Given the description of an element on the screen output the (x, y) to click on. 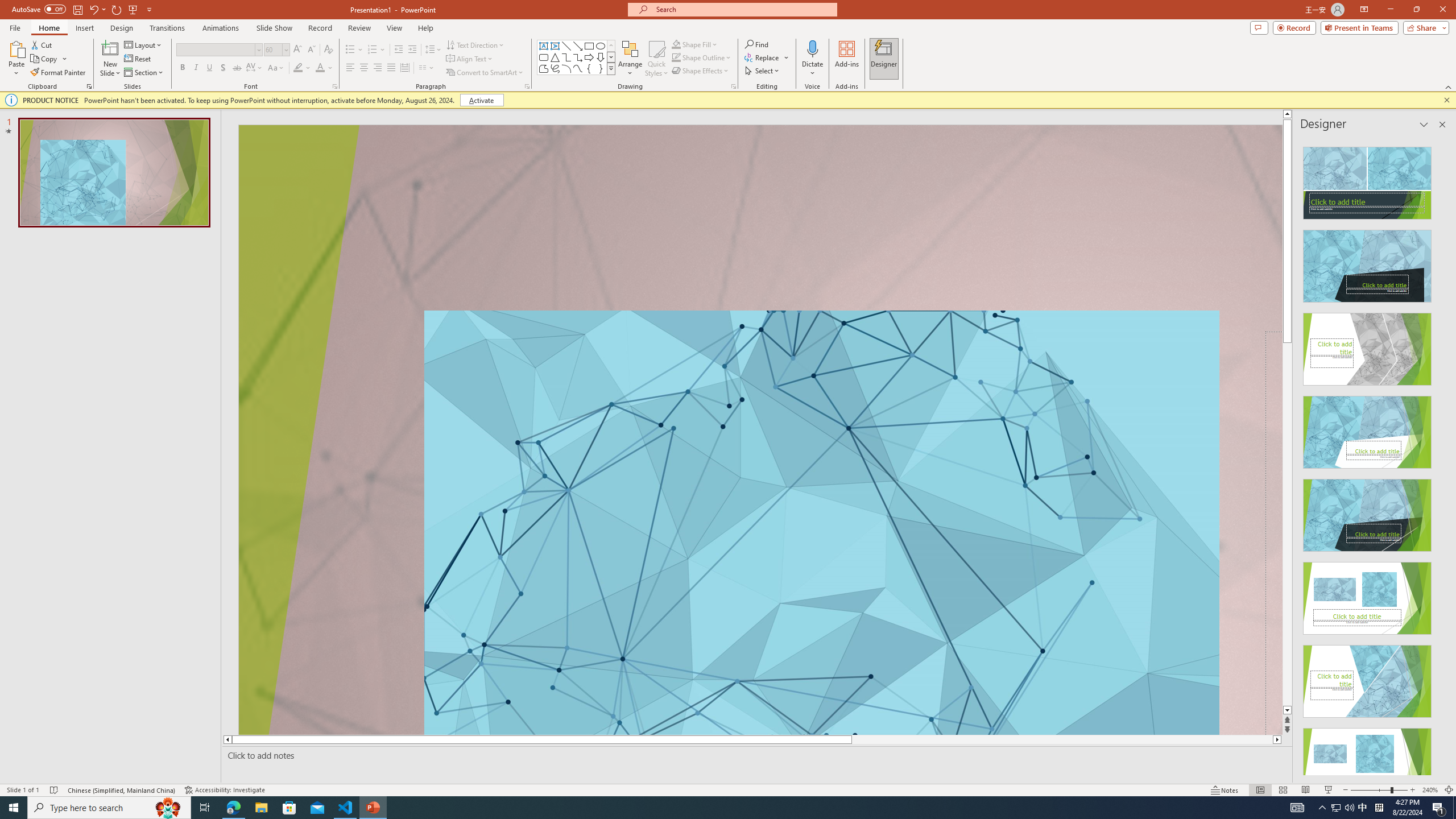
Activate (481, 100)
